Given the description of an element on the screen output the (x, y) to click on. 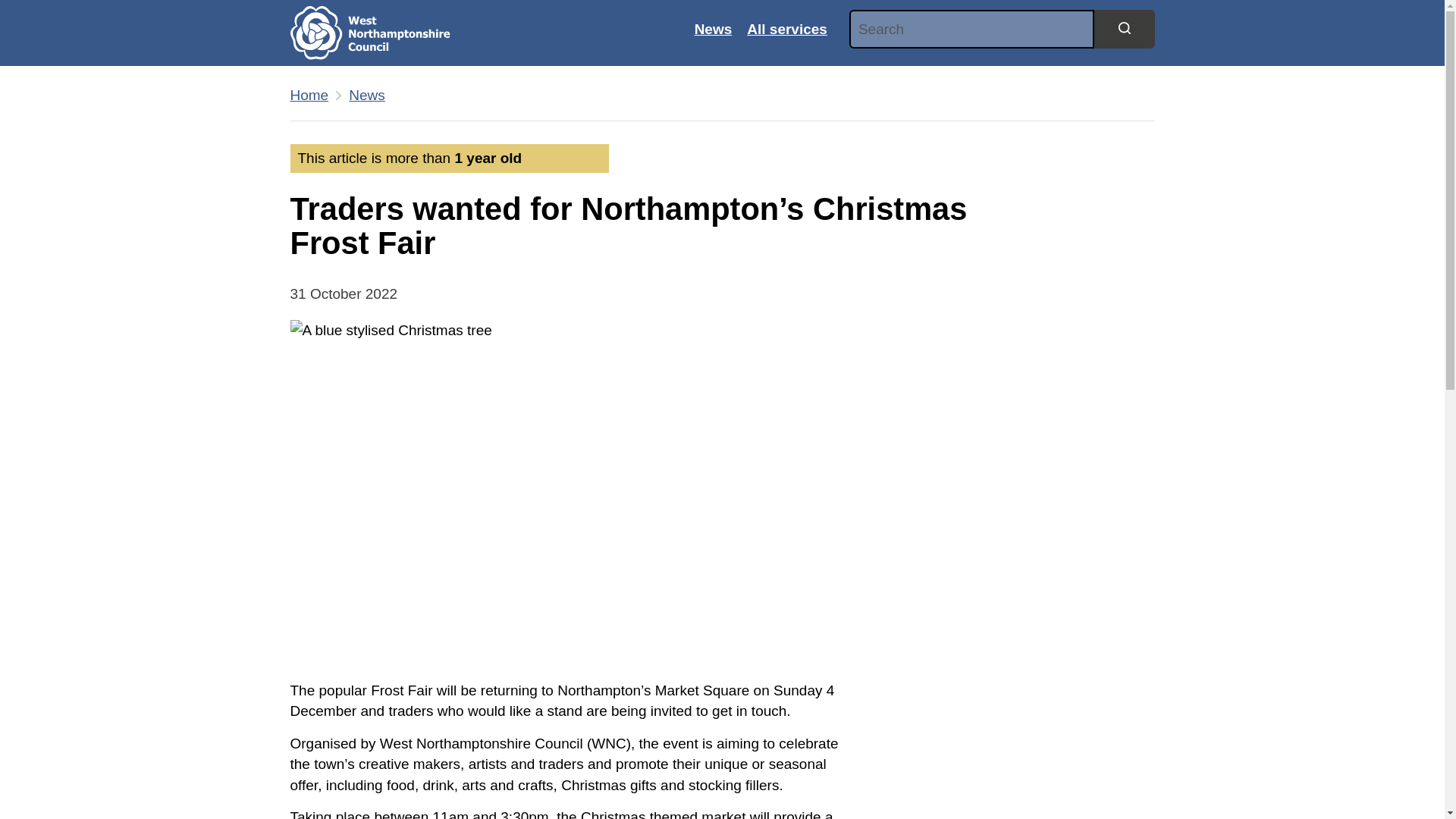
Skip to main content (11, 7)
All services (786, 29)
News (367, 94)
Search (1123, 28)
News (713, 29)
Home (309, 94)
News (367, 94)
Home (380, 32)
Home (309, 94)
